Given the description of an element on the screen output the (x, y) to click on. 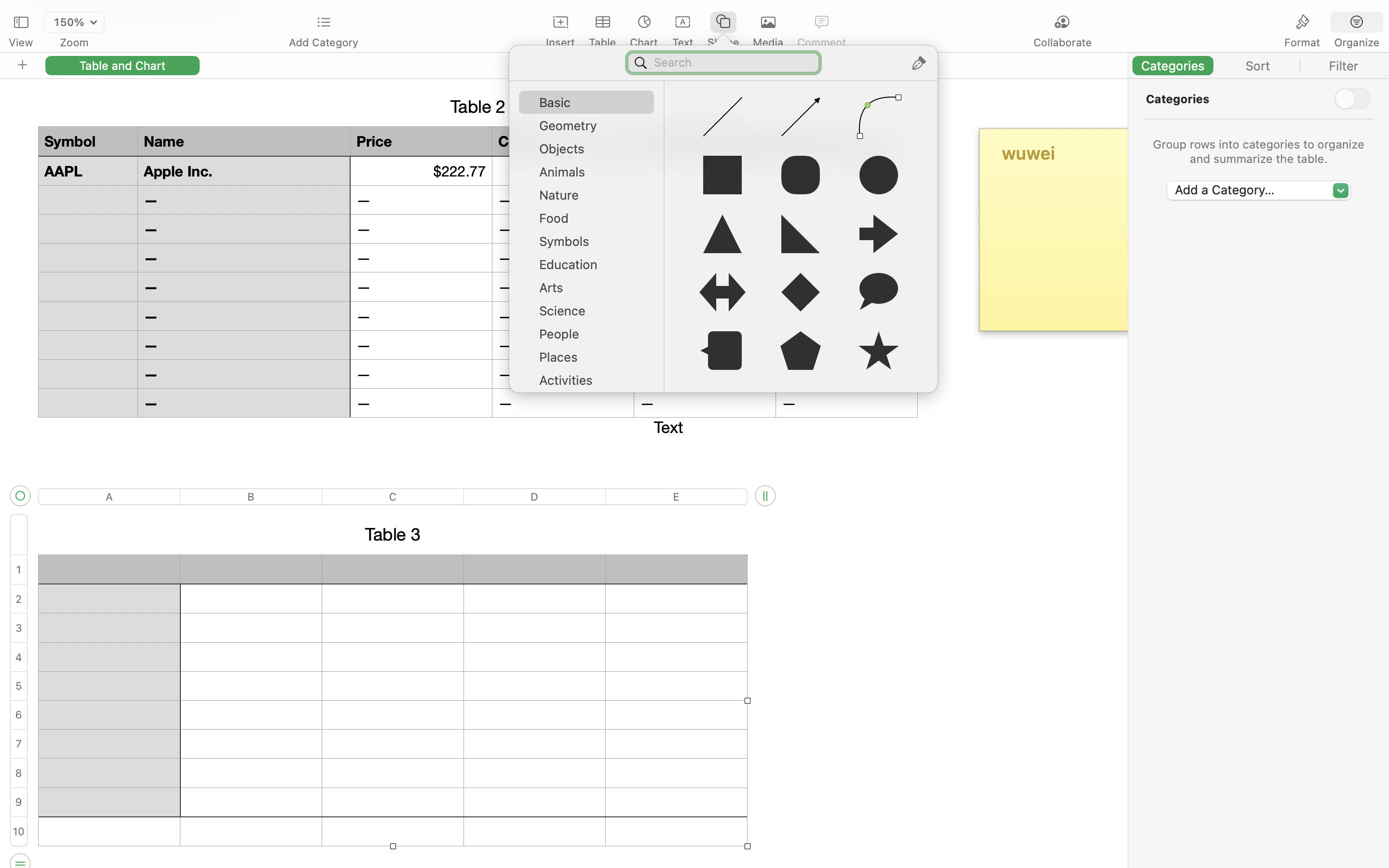
Media Element type: AXStaticText (767, 42)
Food Element type: AXStaticText (591, 221)
Format Element type: AXStaticText (1302, 42)
Categories Element type: AXStaticText (1177, 98)
